Given the description of an element on the screen output the (x, y) to click on. 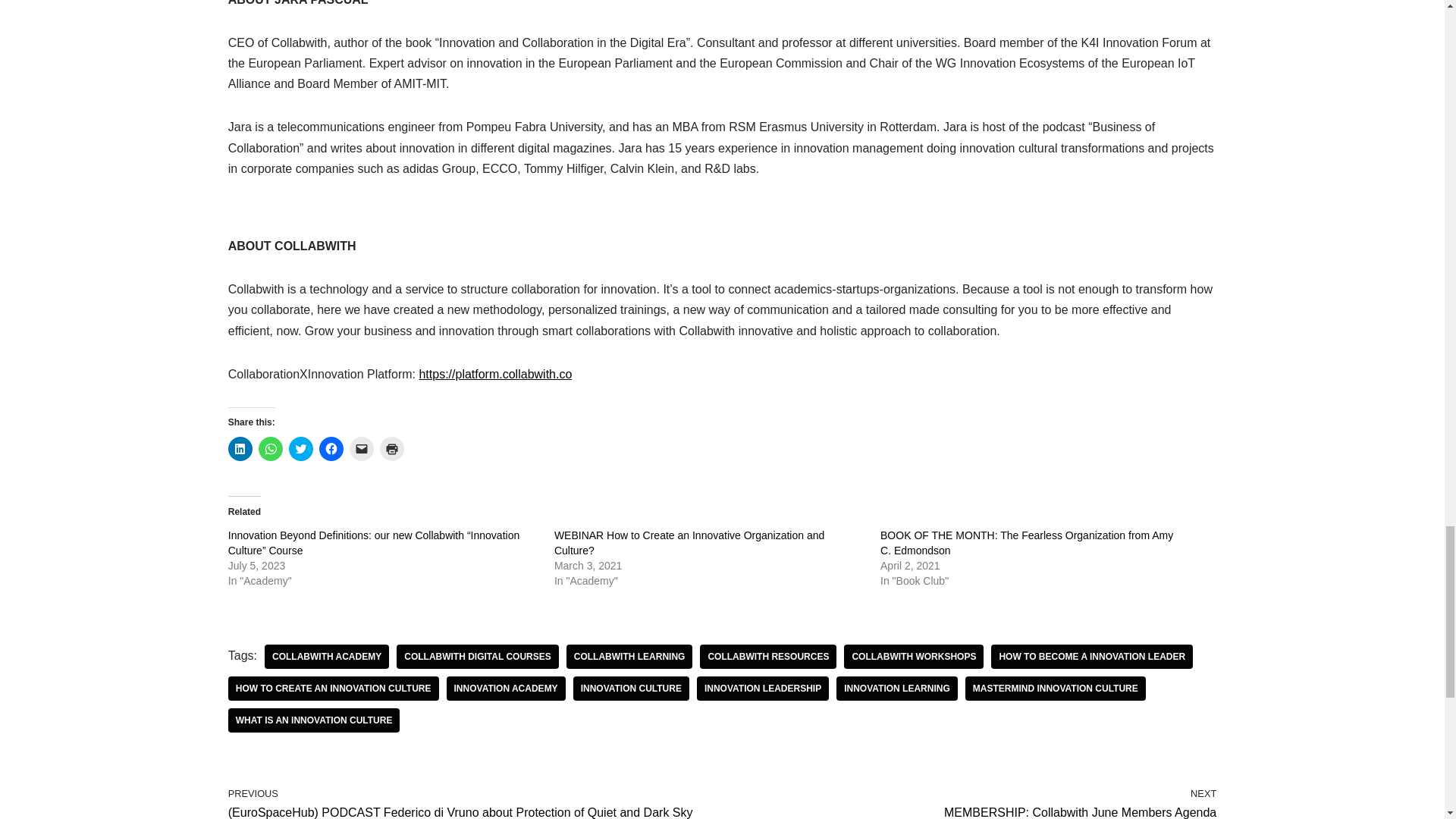
COLLABWITH ACADEMY (326, 656)
collabwith learning (629, 656)
COLLABWITH RESOURCES (767, 656)
INNOVATION CULTURE (630, 688)
HOW TO CREATE AN INNOVATION CULTURE (333, 688)
collabwith academy (326, 656)
Click to share on WhatsApp (270, 448)
HOW TO BECOME A INNOVATION LEADER (1091, 656)
Click to print (392, 448)
